Given the description of an element on the screen output the (x, y) to click on. 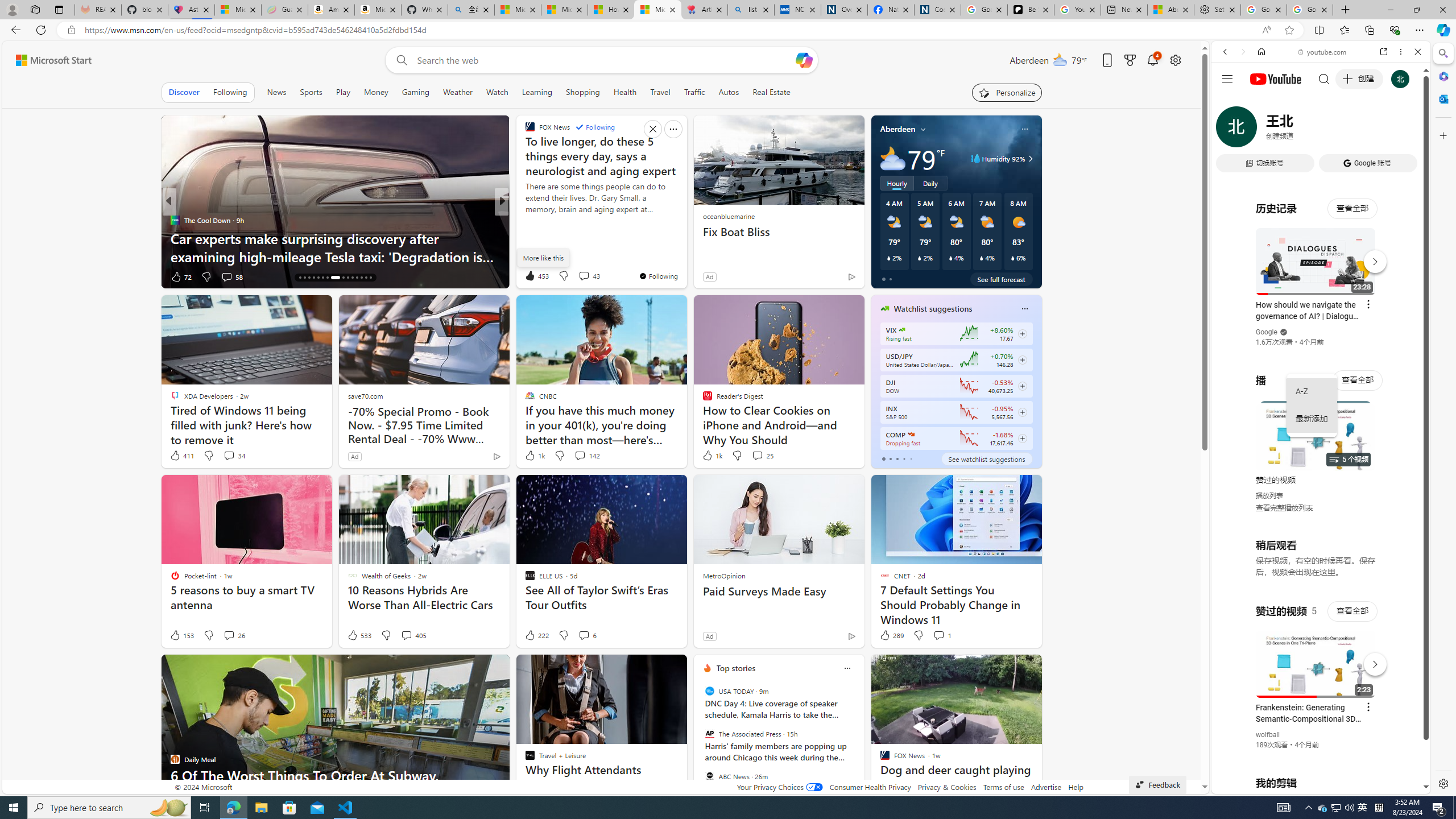
View comments 197 Comment (587, 276)
View comments 25 Comment (761, 455)
